Given the description of an element on the screen output the (x, y) to click on. 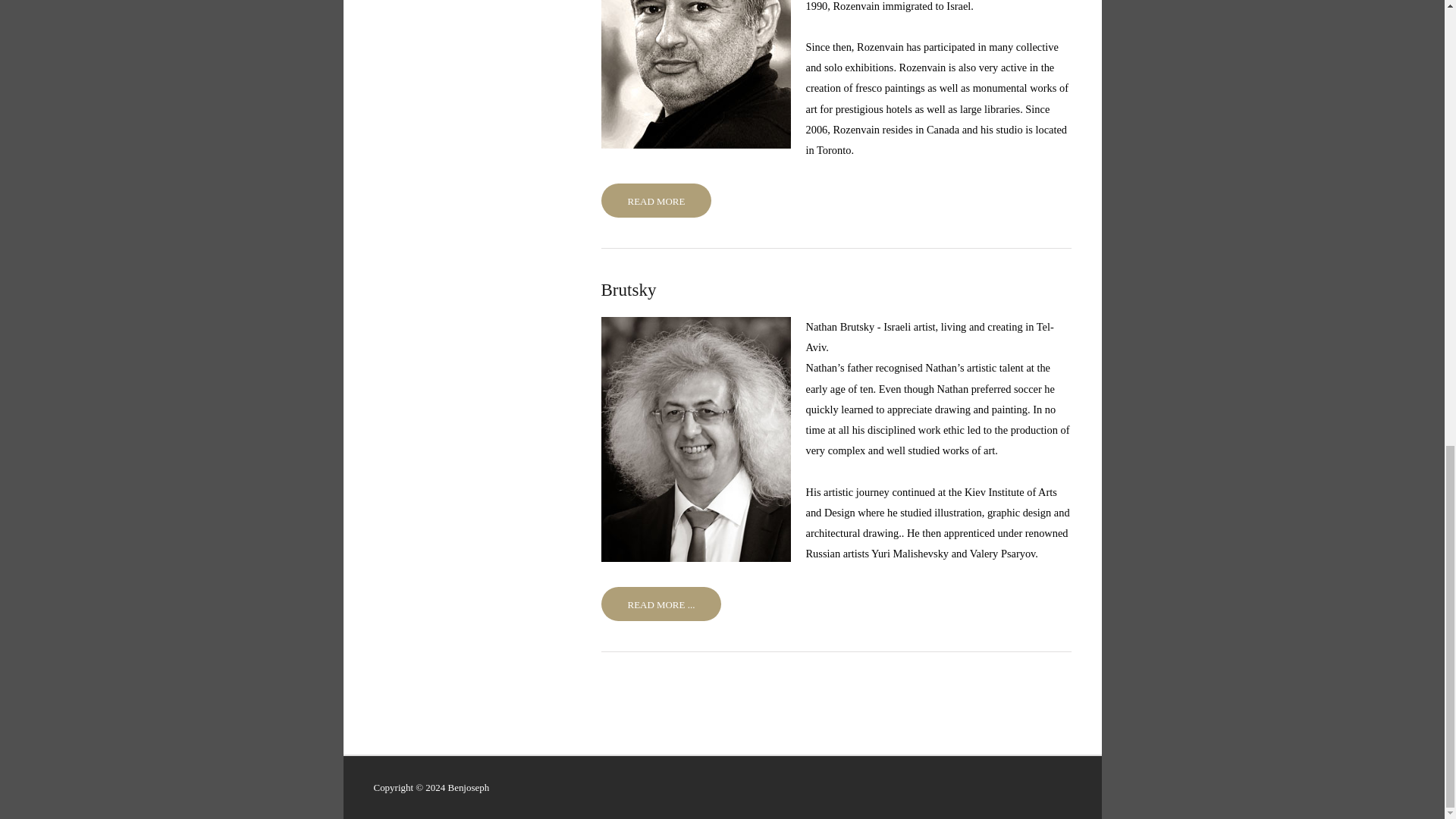
READ MORE (655, 200)
READ MORE ... (659, 603)
